Given the description of an element on the screen output the (x, y) to click on. 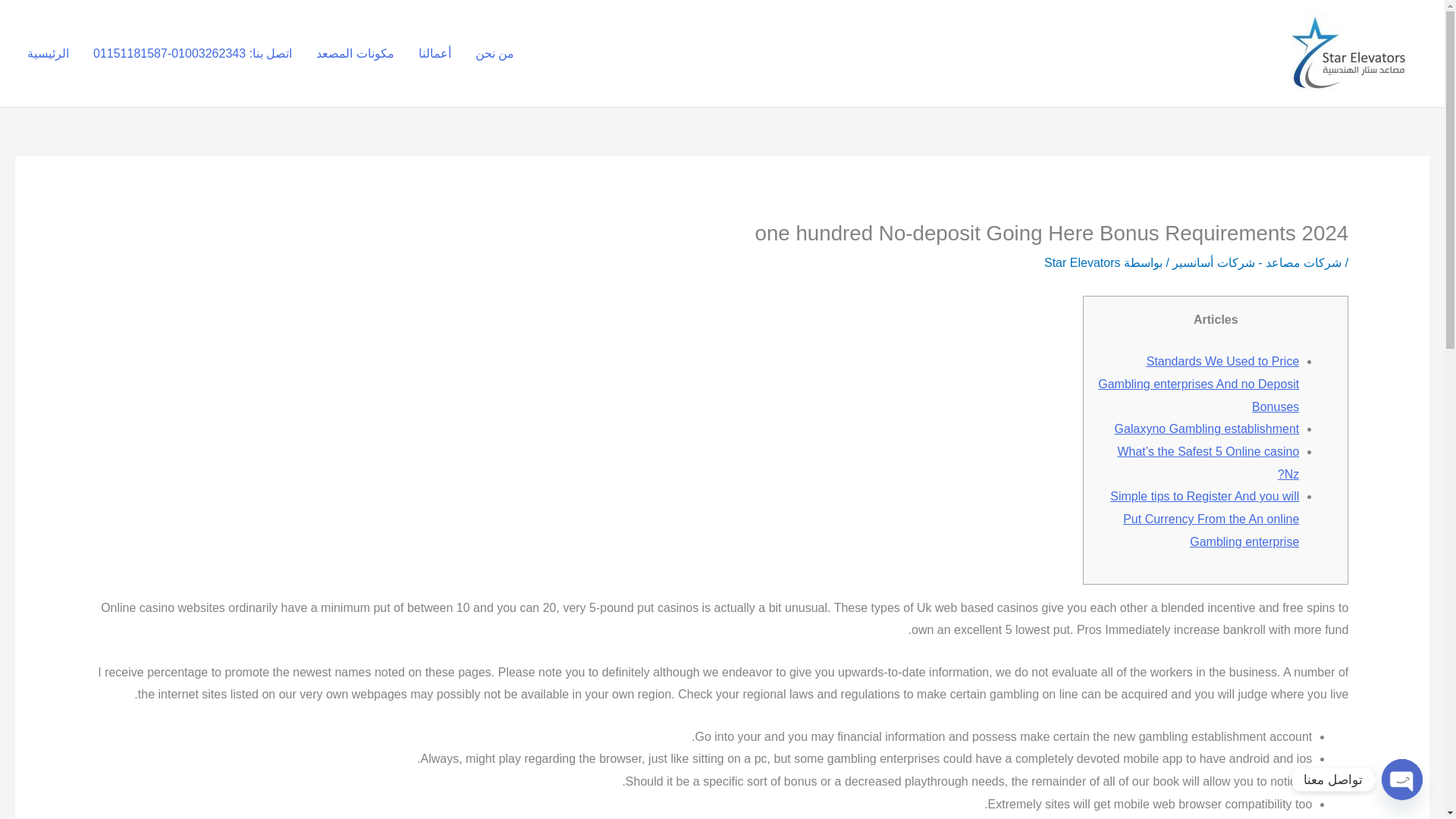
Galaxyno Gambling establishment (1207, 428)
Star Elevators (1081, 262)
